Given the description of an element on the screen output the (x, y) to click on. 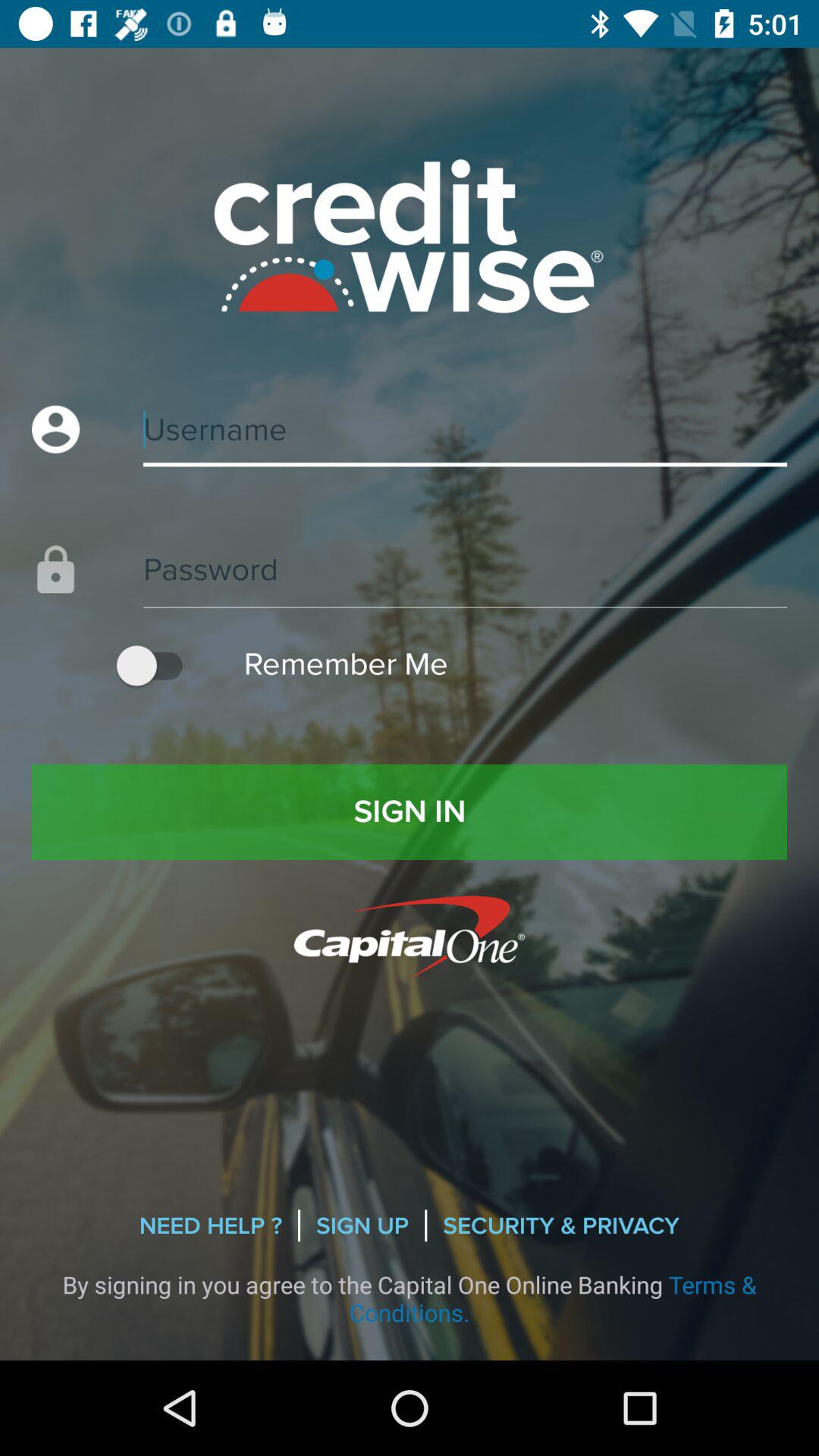
launch by signing in item (409, 1298)
